Given the description of an element on the screen output the (x, y) to click on. 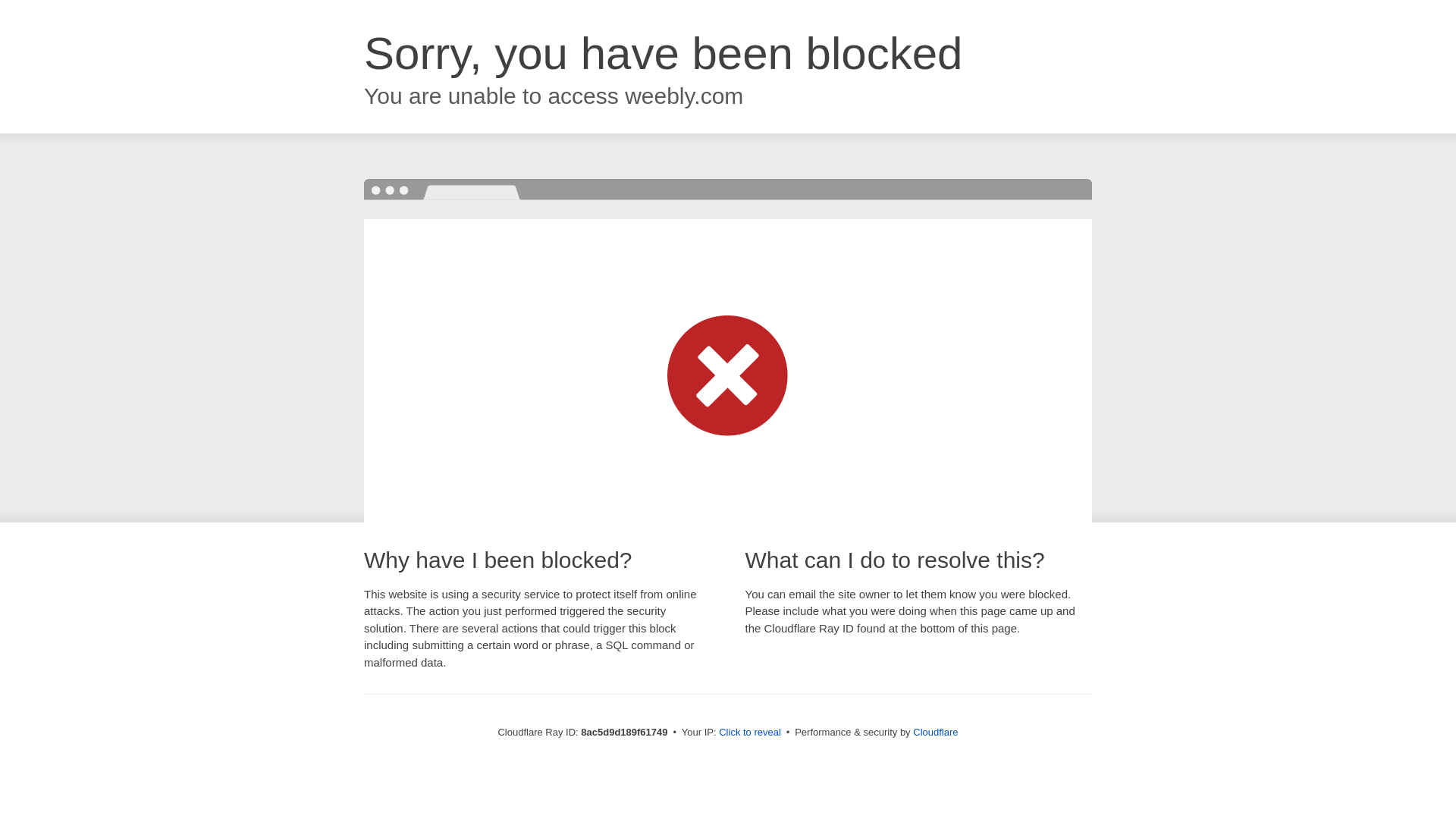
Click to reveal (749, 732)
Cloudflare (935, 731)
